Given the description of an element on the screen output the (x, y) to click on. 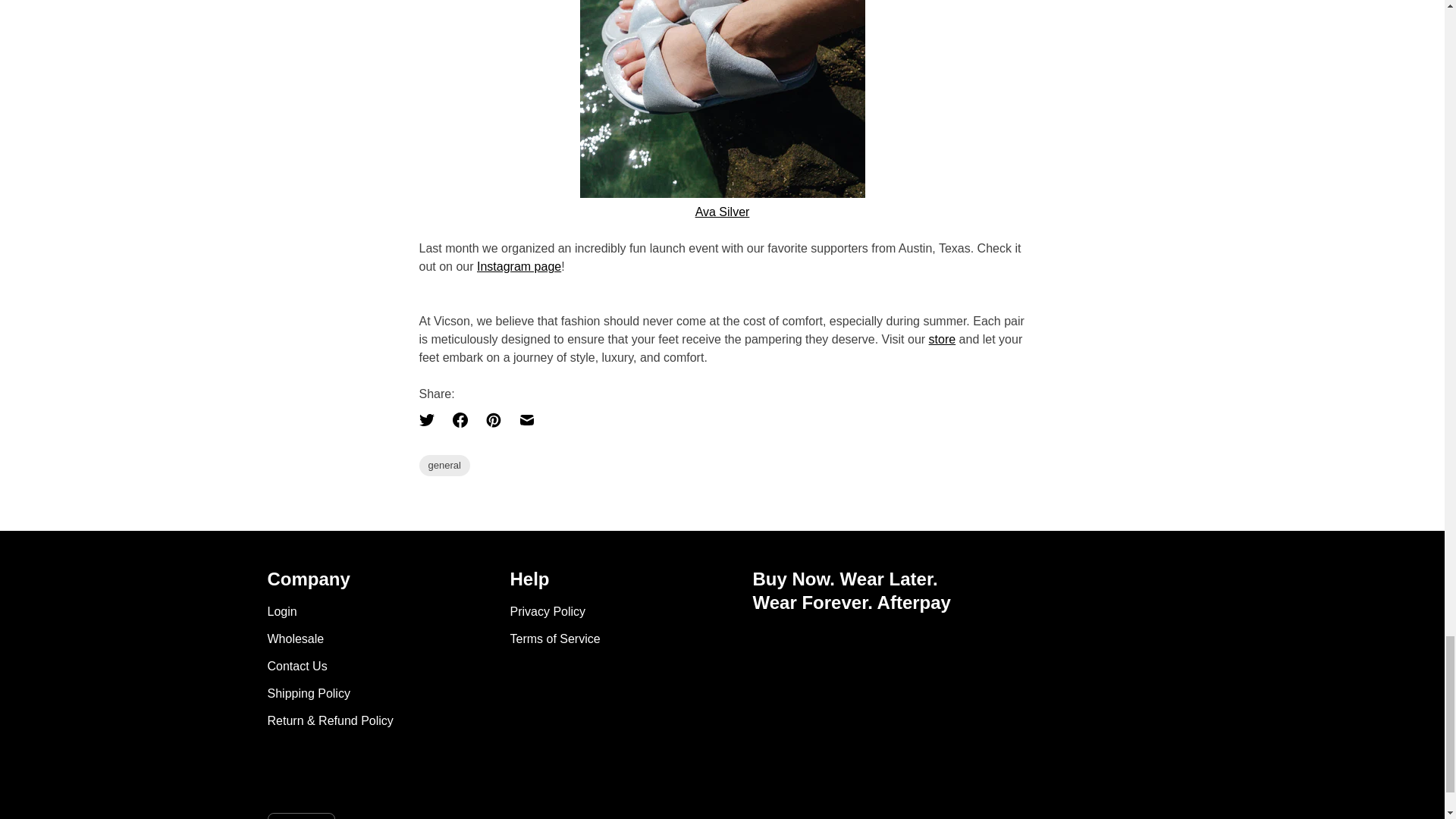
Share this on Pinterest (492, 419)
Vicson Blog tagged general (444, 464)
Share this on Facebook (459, 419)
Email this to a friend (526, 419)
